Given the description of an element on the screen output the (x, y) to click on. 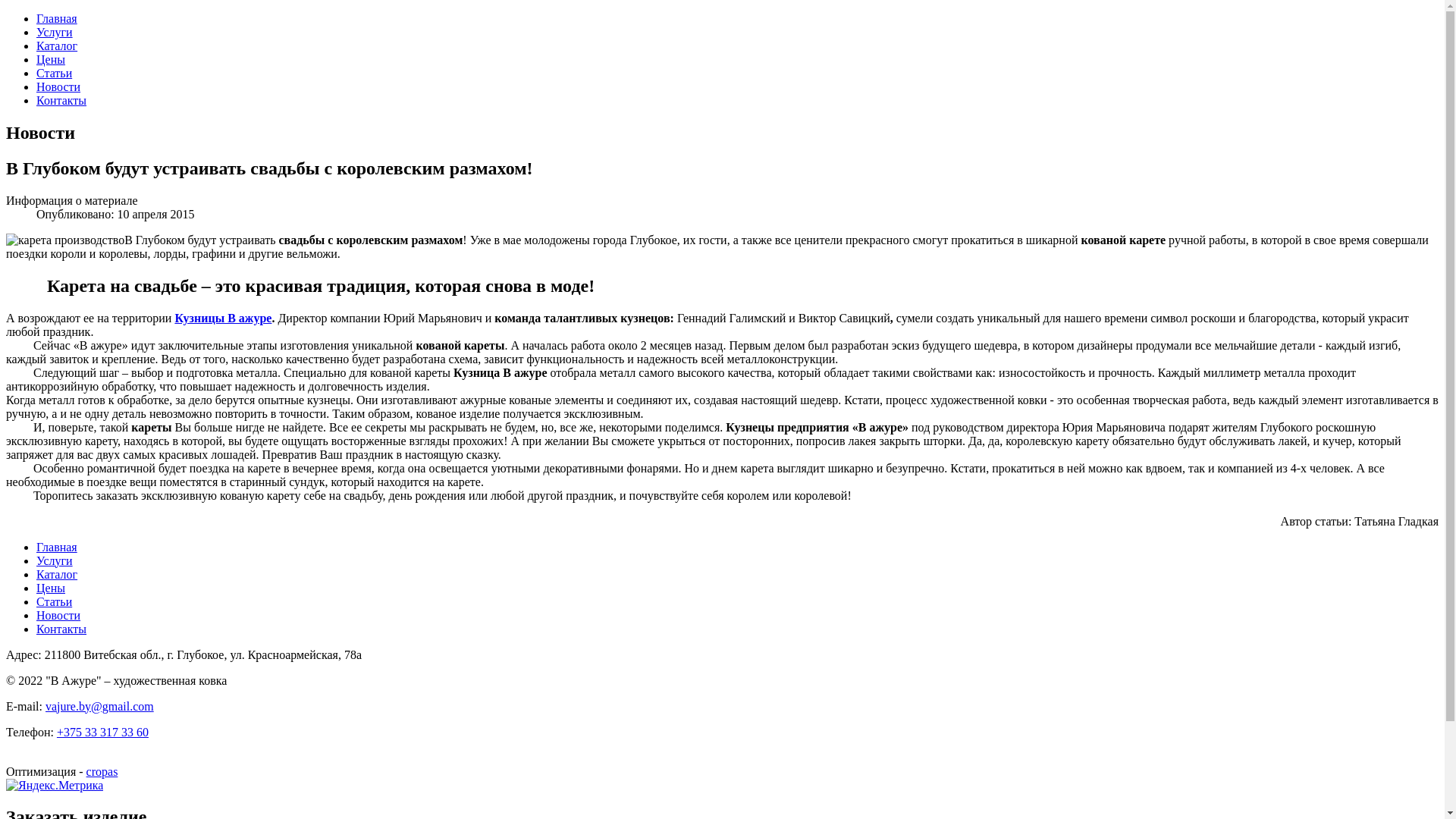
cropas Element type: text (102, 771)
+375 33 317 33 60 Element type: text (102, 731)
vajure.by@gmail.com Element type: text (99, 705)
